Given the description of an element on the screen output the (x, y) to click on. 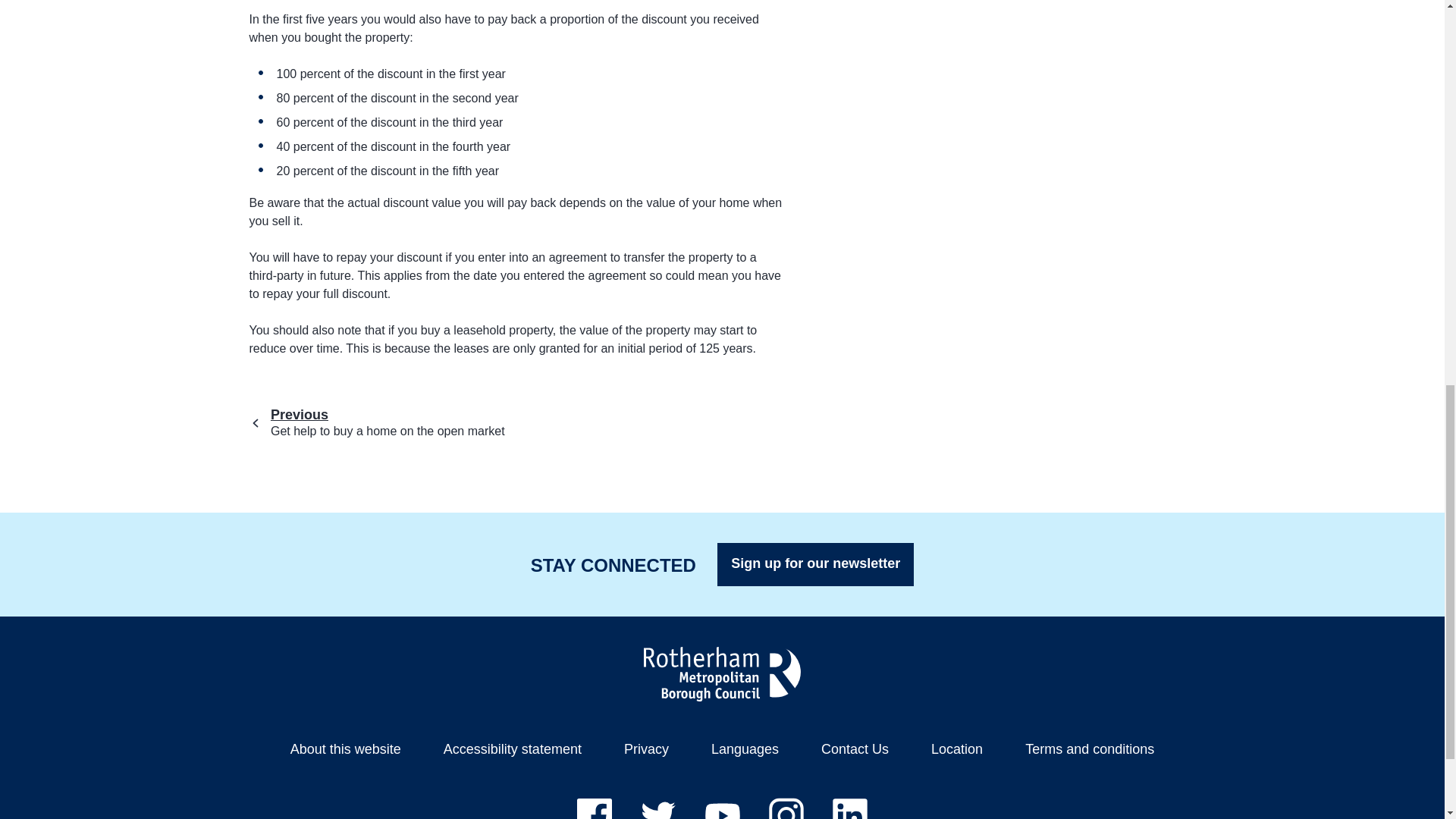
Rotherham Metropolitan Borough Council Home Page (581, 422)
About this website (721, 674)
Sign up for our newsletter (345, 749)
Accessibility statement (815, 564)
Privacy (512, 749)
